Given the description of an element on the screen output the (x, y) to click on. 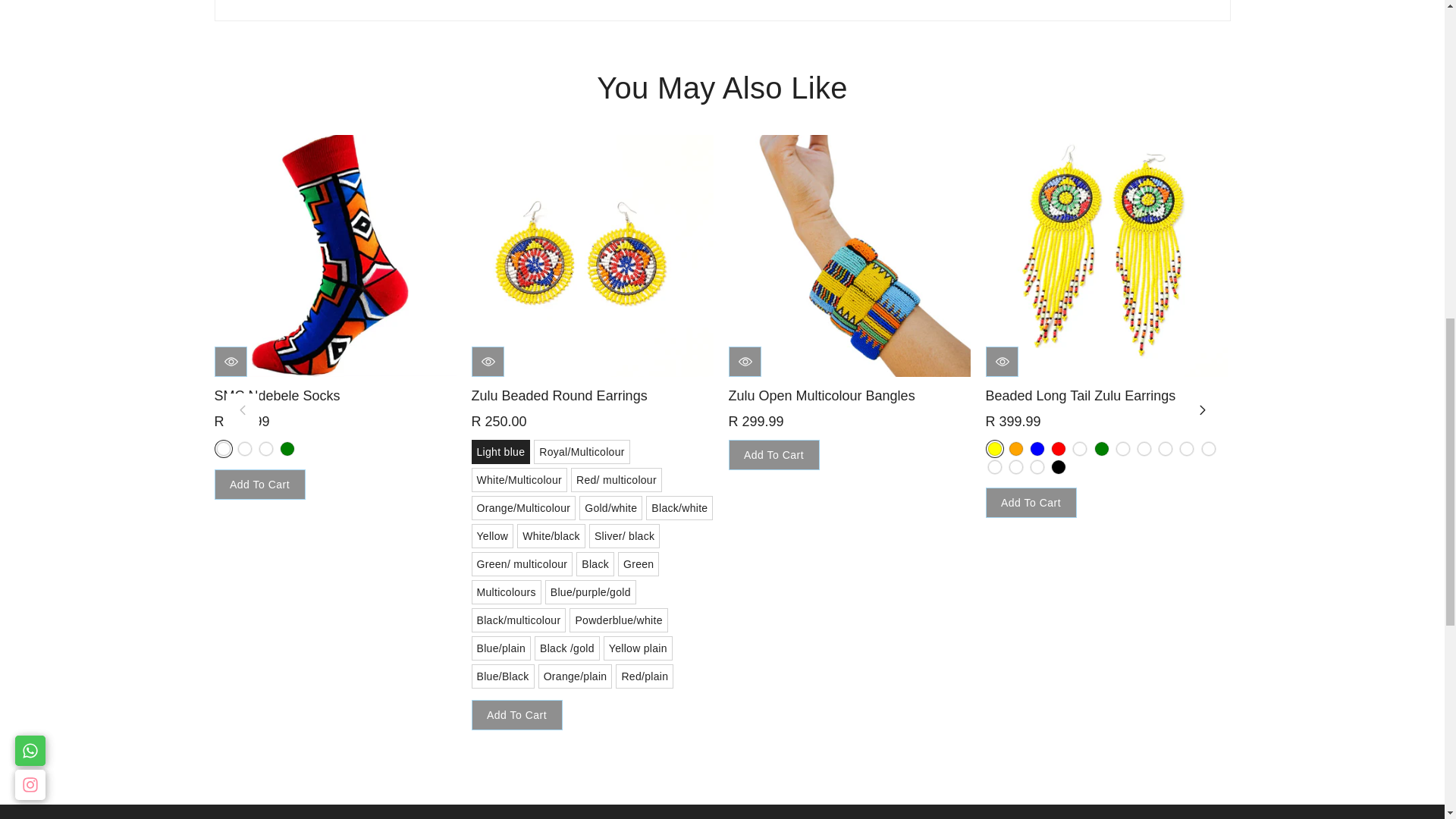
SMC Ndebele Socks (334, 255)
Zulu open multicolour bangles (848, 255)
Beaded long tail zulu Earrings (1106, 255)
Zulu Beaded Round Earrings (592, 255)
